Given the description of an element on the screen output the (x, y) to click on. 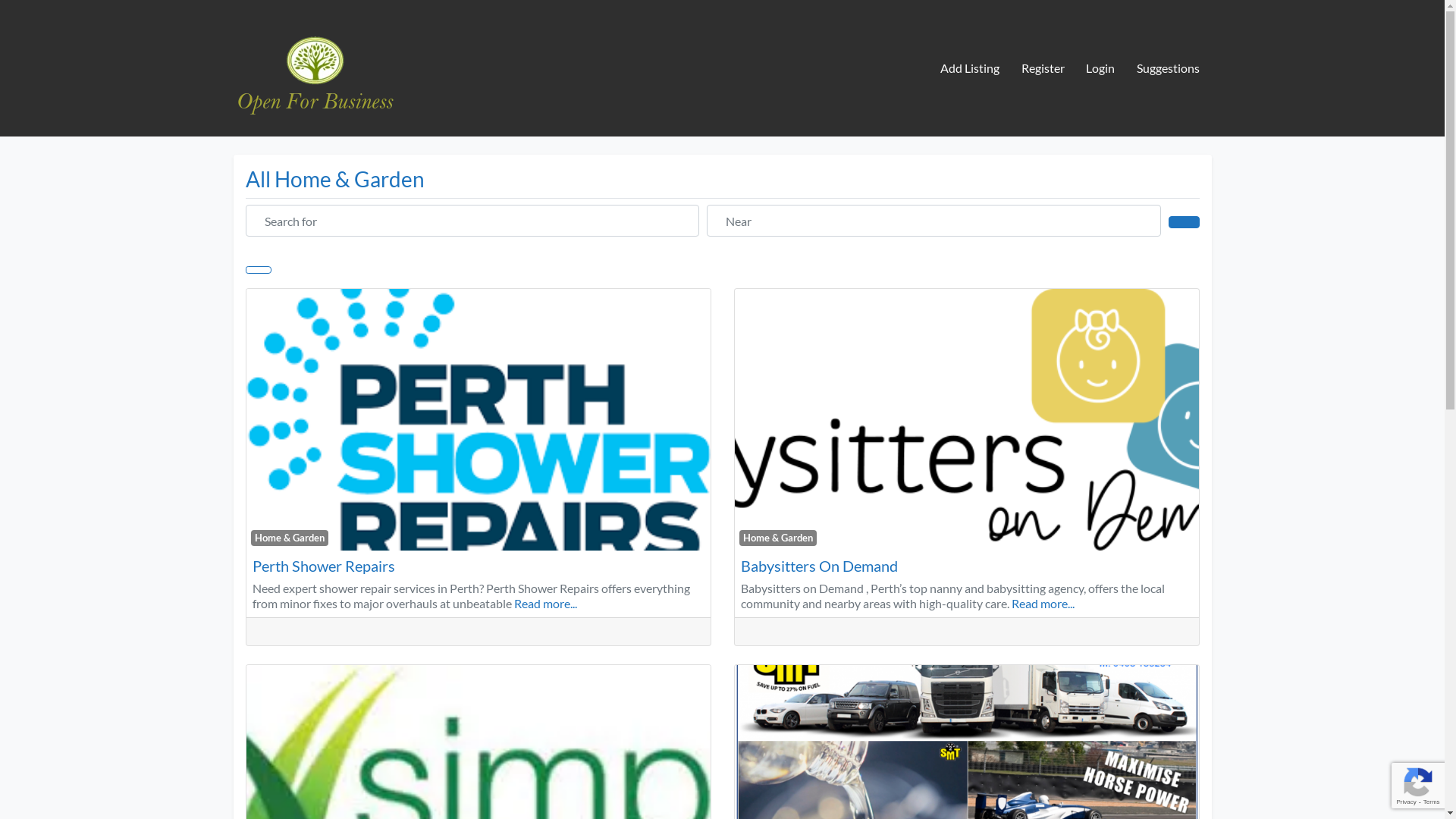
Login Element type: text (1100, 67)
Register Element type: text (1042, 67)
Home & Garden Element type: text (777, 537)
Babysitters On Demand Element type: text (818, 565)
Suggestions Element type: text (1168, 67)
Perth Shower Repairs Element type: text (322, 565)
Add Listing Element type: text (969, 67)
Search Element type: text (1183, 222)
All Home & Garden Element type: text (334, 178)
Read more... Element type: text (1042, 603)
Home & Garden Element type: text (289, 537)
Read more... Element type: text (545, 603)
Open For Business Element type: hover (314, 65)
